Given the description of an element on the screen output the (x, y) to click on. 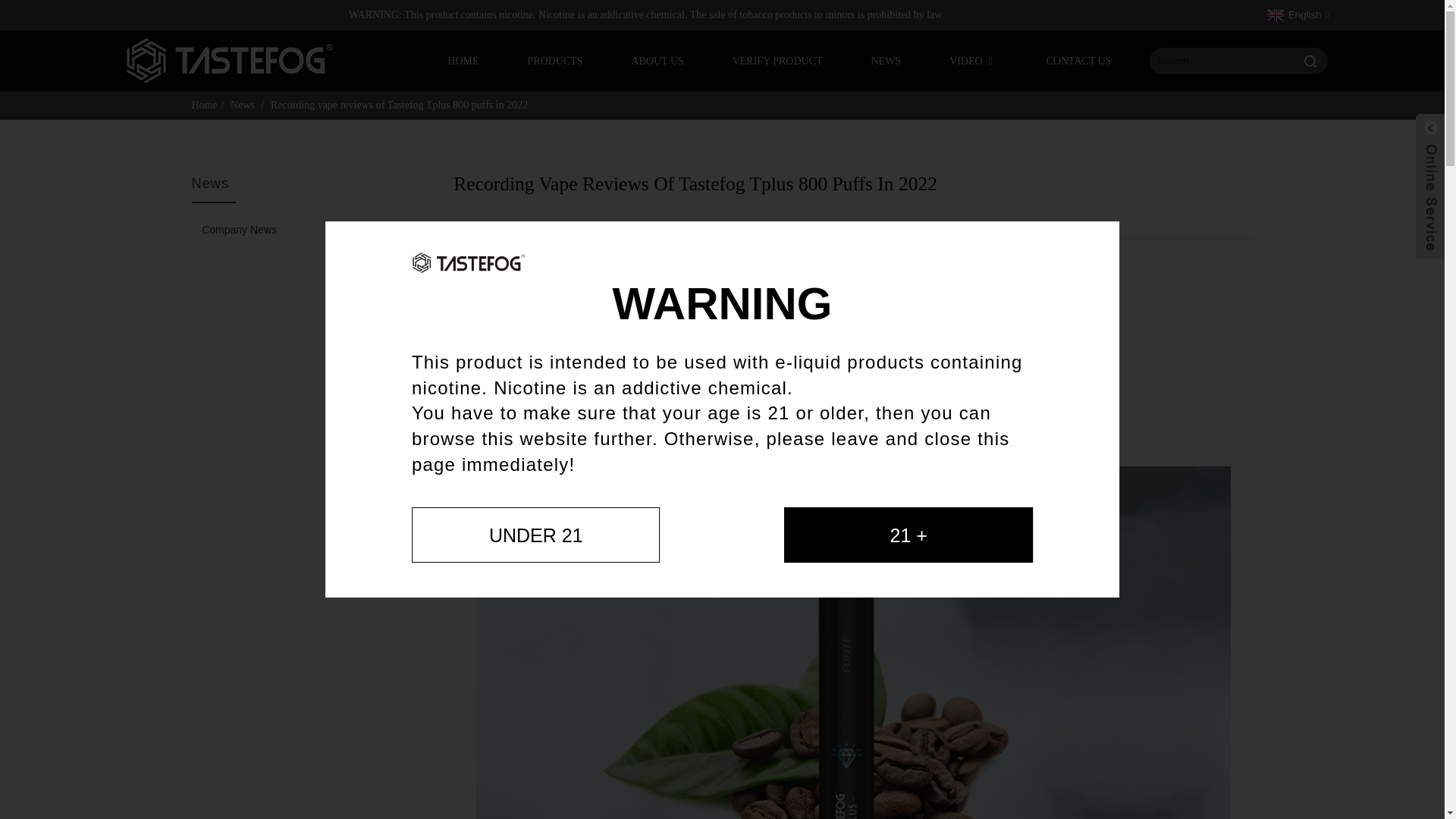
English (1296, 14)
